Given the description of an element on the screen output the (x, y) to click on. 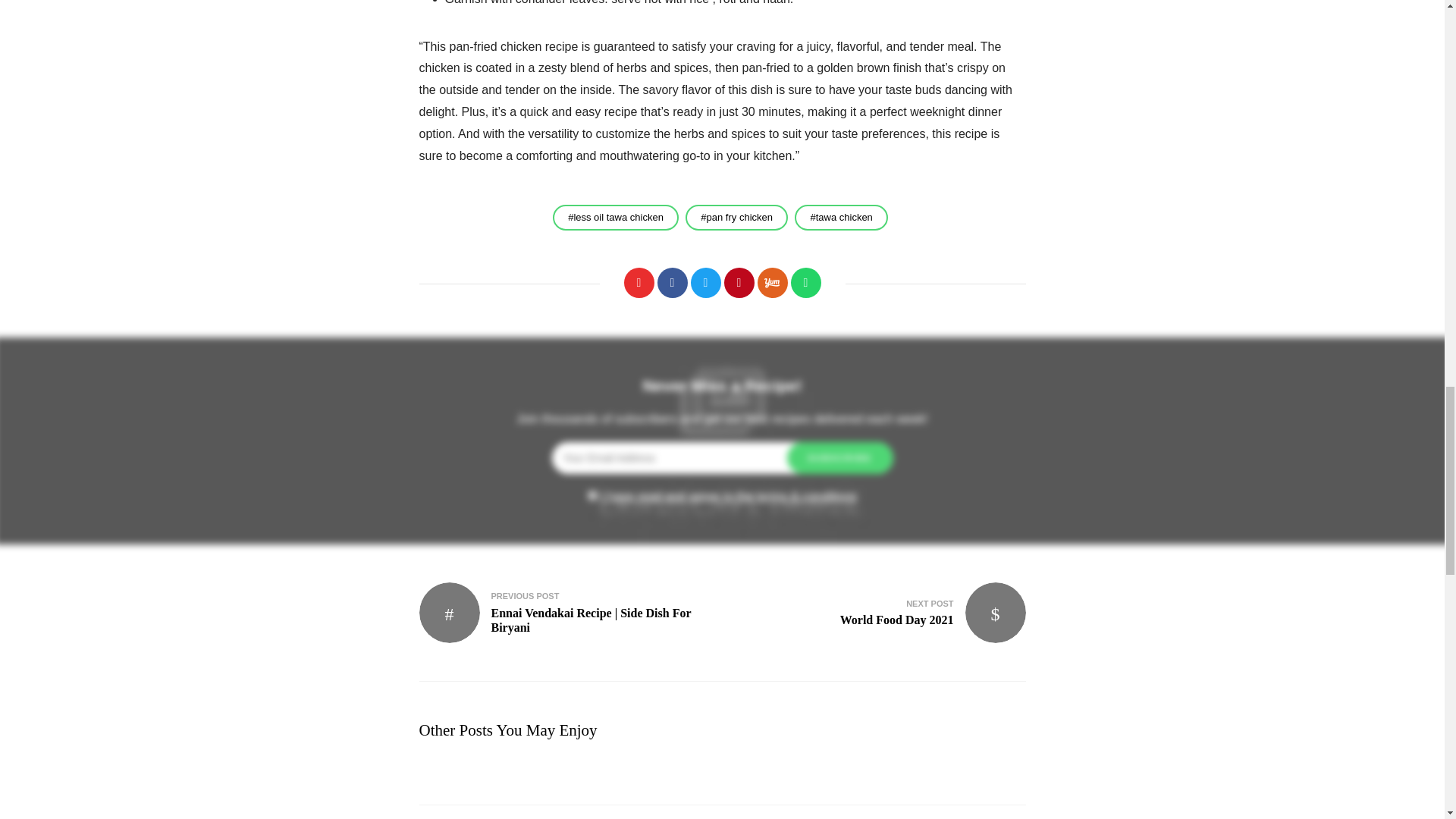
1 (592, 495)
Subscribe (840, 458)
Like (880, 612)
Yummly (638, 282)
Facebook (772, 282)
less oil tawa chicken (671, 282)
Twitter (615, 217)
Pinterest (705, 282)
tawa chicken (738, 282)
